Given the description of an element on the screen output the (x, y) to click on. 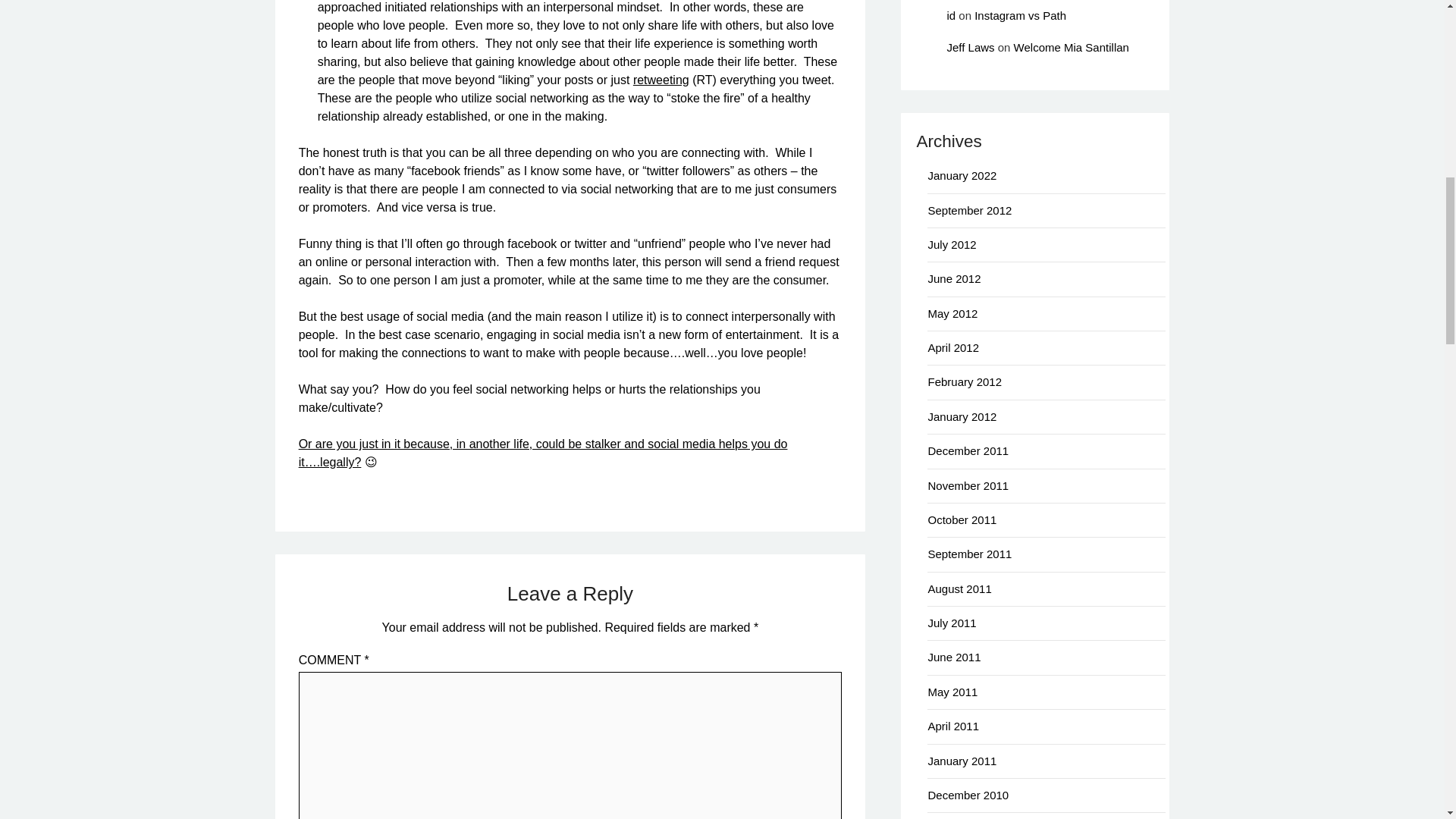
Instagram vs Path (1019, 15)
Jeff Laws (970, 47)
June 2012 (953, 278)
September 2012 (969, 210)
January 2012 (961, 416)
December 2011 (968, 450)
July 2012 (951, 244)
January 2022 (961, 174)
April 2012 (952, 347)
retweeting (660, 79)
February 2012 (964, 381)
Welcome Mia Santillan (1071, 47)
May 2012 (951, 313)
